Given the description of an element on the screen output the (x, y) to click on. 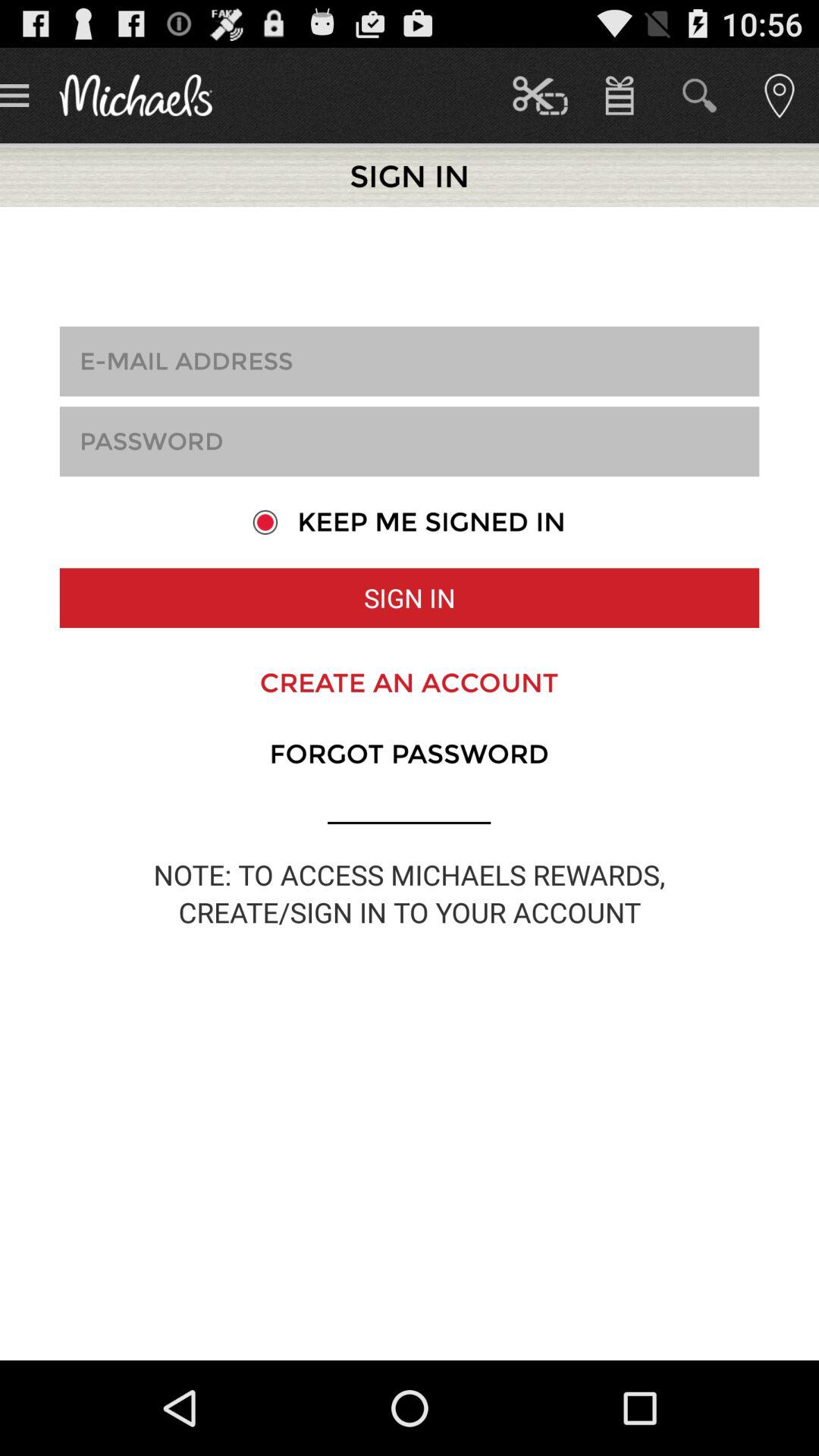
turn on forgot password icon (408, 753)
